Given the description of an element on the screen output the (x, y) to click on. 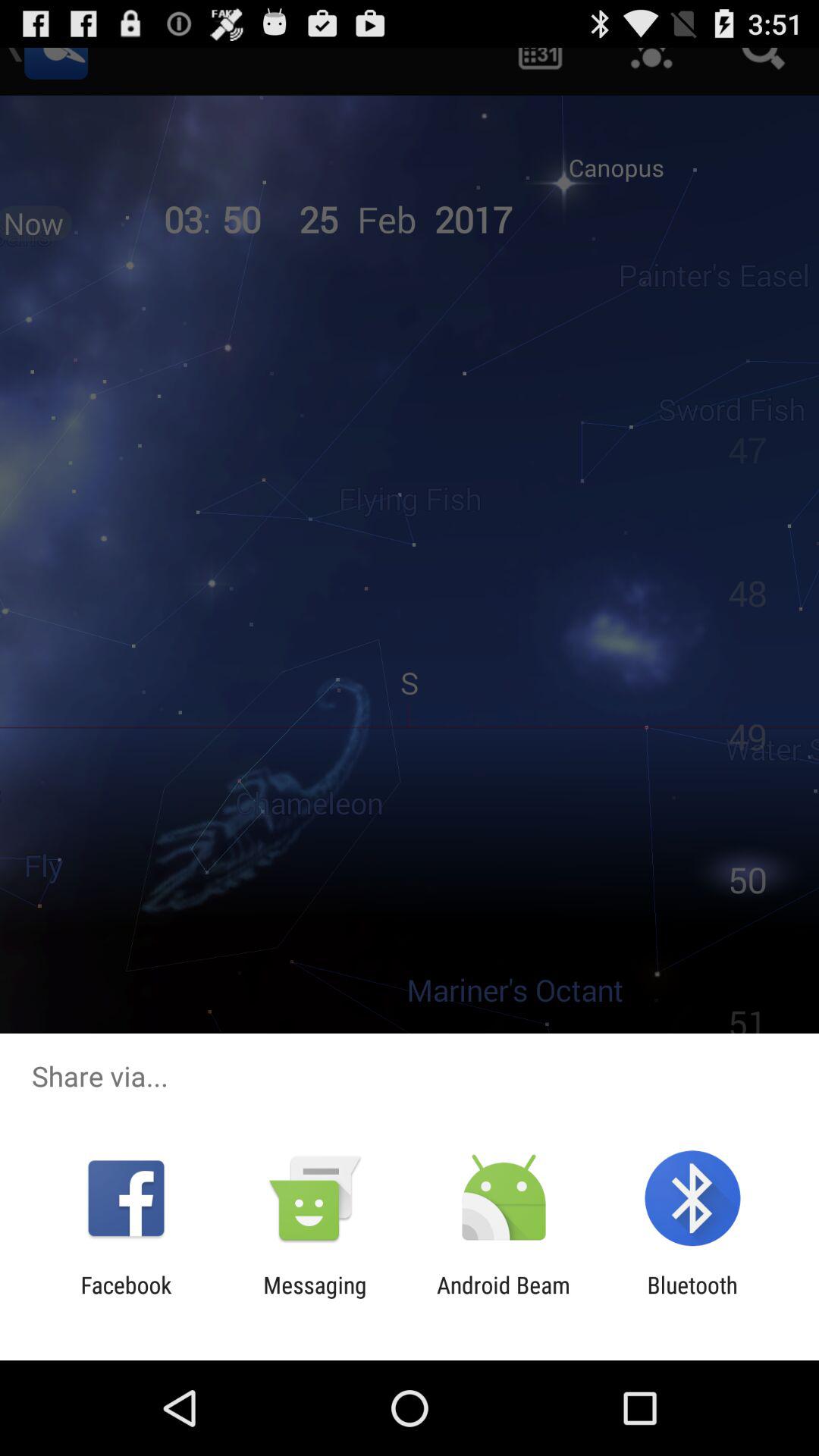
turn off messaging (314, 1298)
